Given the description of an element on the screen output the (x, y) to click on. 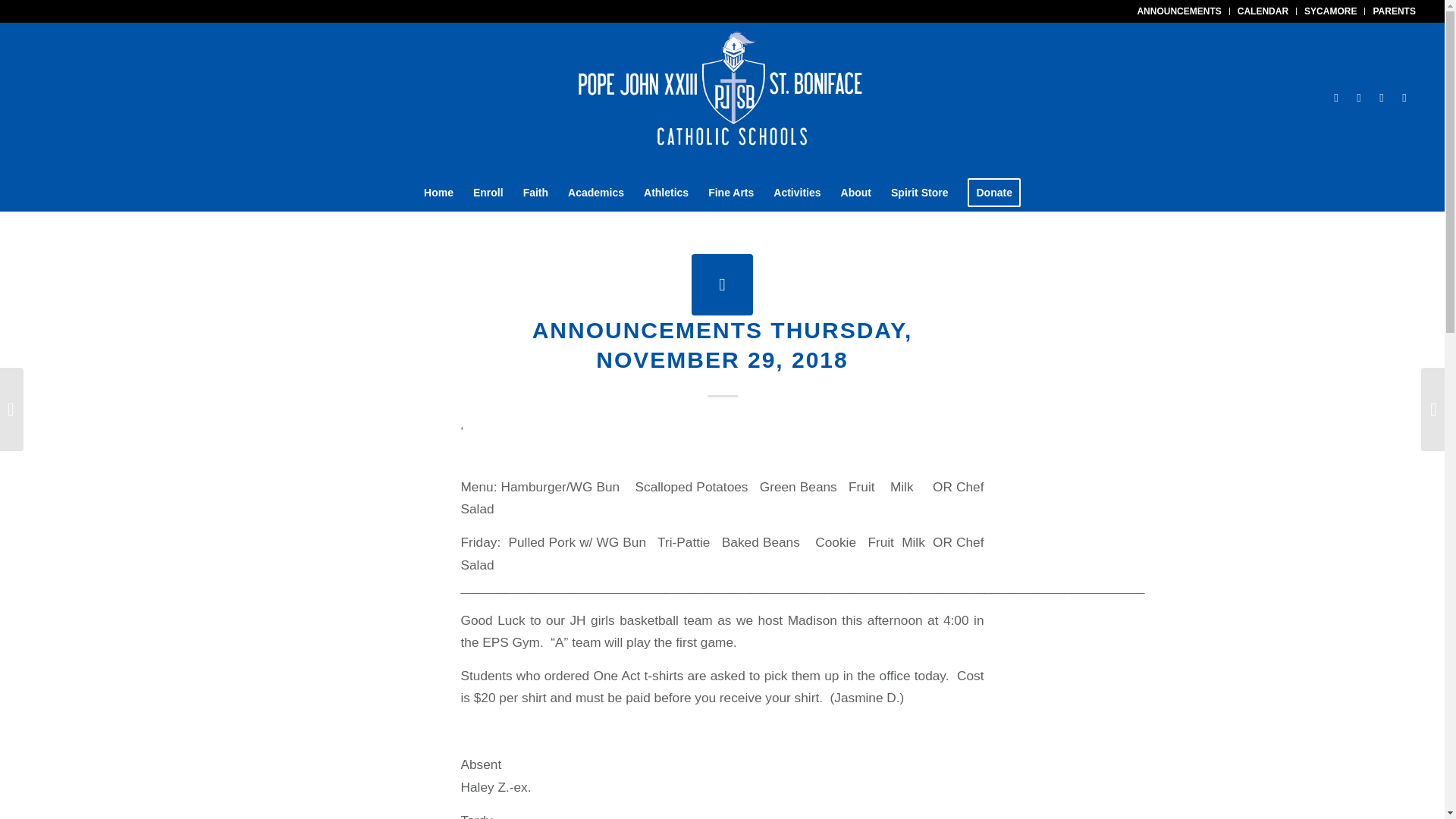
CALENDAR (1262, 11)
Spirit Store (919, 192)
Faith (535, 192)
Facebook (1359, 97)
Student Information (1330, 11)
Donate (993, 192)
Donate (993, 192)
PJ-SB-Logo-Reverse-web (722, 97)
Instagram (1404, 97)
About (855, 192)
Fine Arts (730, 192)
Announcements Thursday, November 29, 2018 (721, 284)
Youtube (1381, 97)
Athletics (665, 192)
ANNOUNCEMENTS (1179, 11)
